Given the description of an element on the screen output the (x, y) to click on. 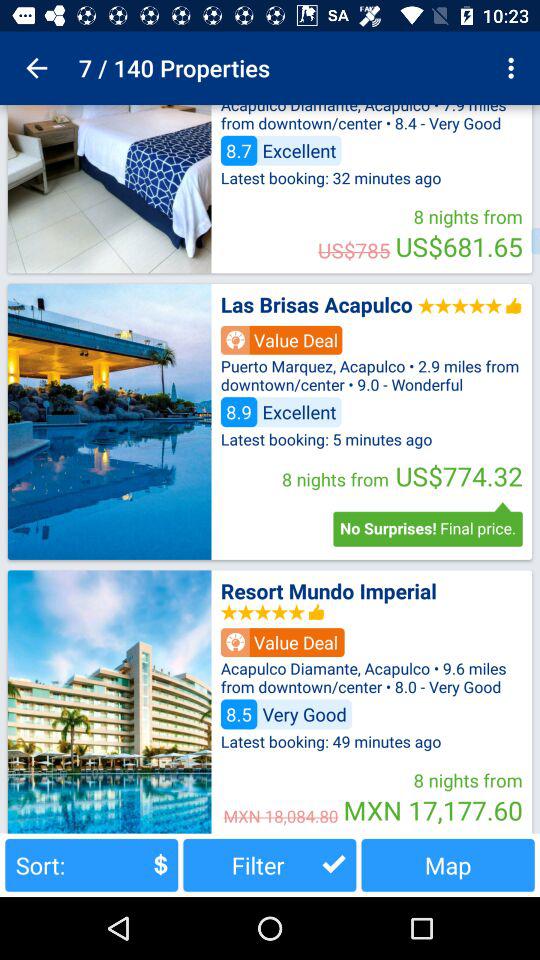
tap the icon next to the filter item (91, 864)
